Given the description of an element on the screen output the (x, y) to click on. 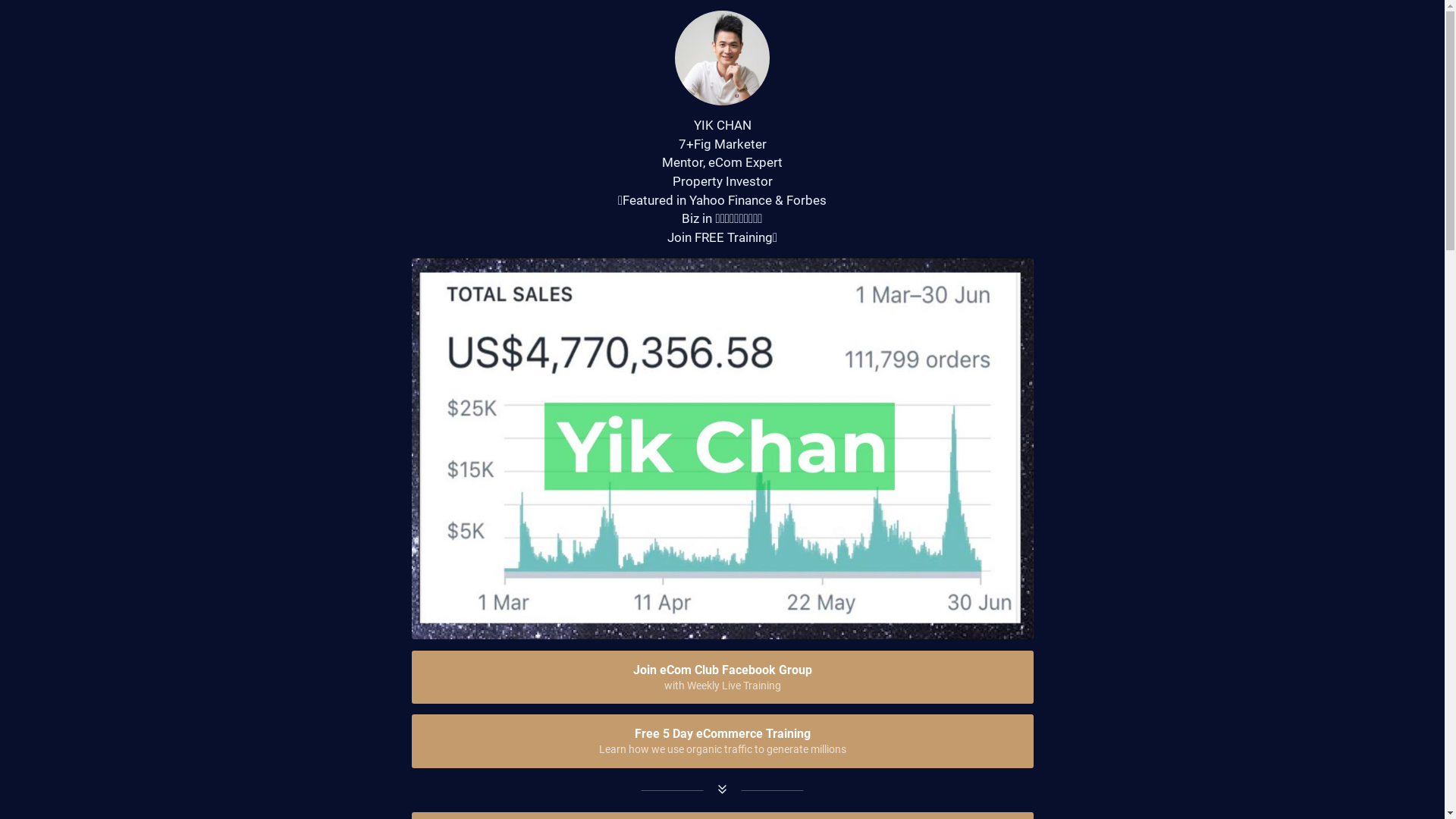
Join eCom Club Facebook Group
with Weekly Live Training Element type: text (721, 677)
+ Element type: text (689, 143)
